Given the description of an element on the screen output the (x, y) to click on. 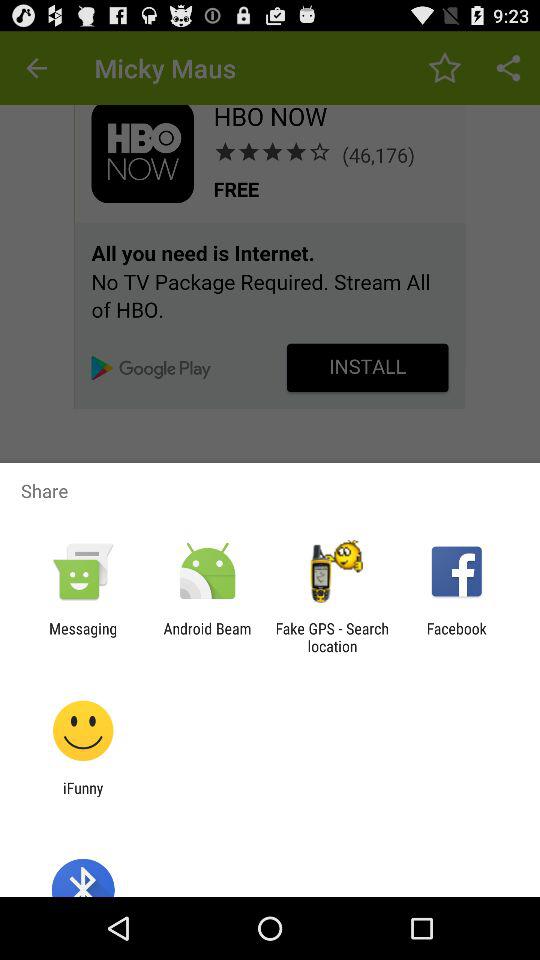
choose item next to fake gps search app (456, 637)
